Given the description of an element on the screen output the (x, y) to click on. 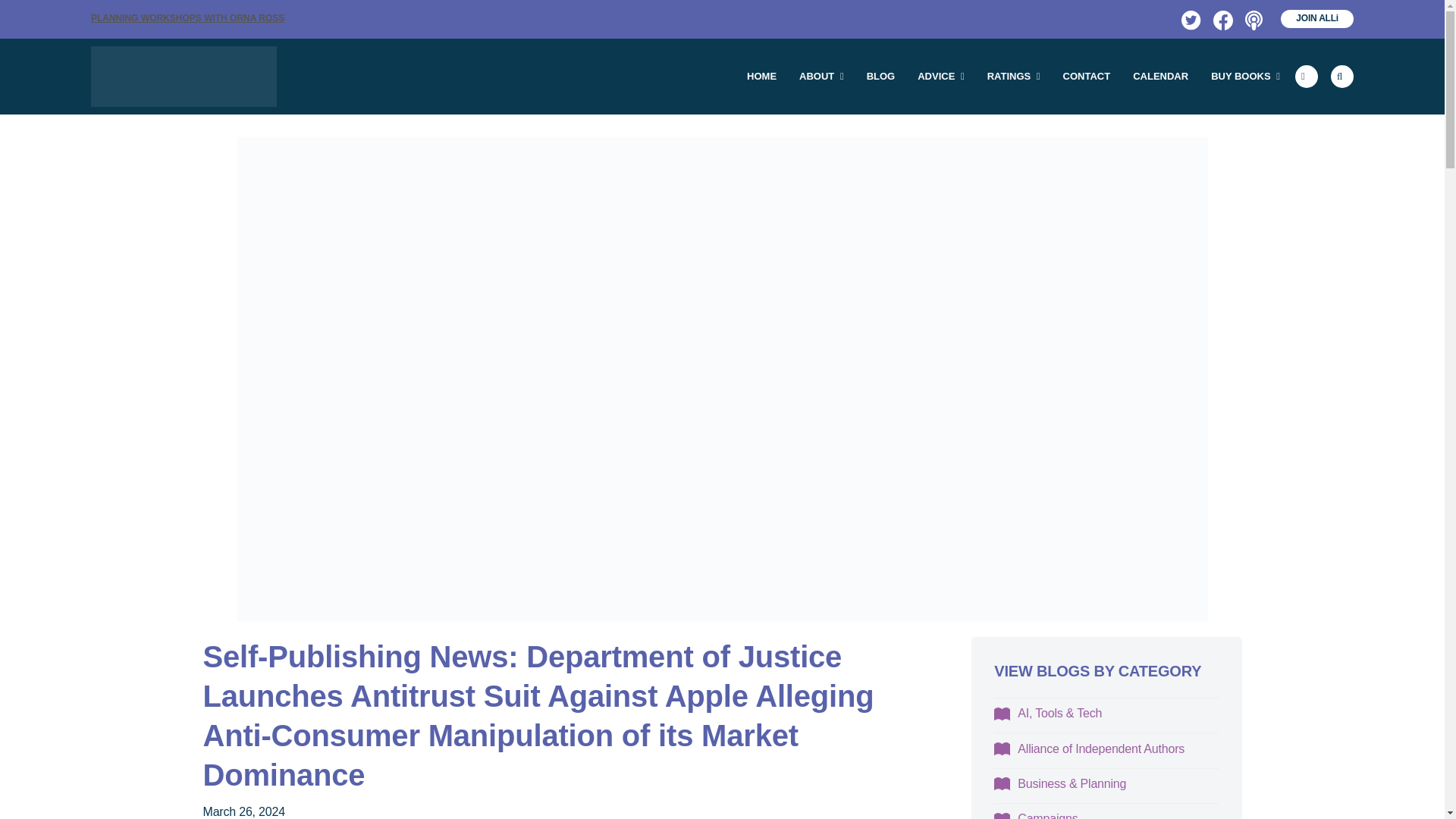
Facebook (1221, 18)
HOME (761, 76)
BLOG (881, 76)
BUY BOOKS (1245, 76)
Podcast (1253, 18)
Twitter (1189, 18)
Facebook (1221, 18)
CALENDAR (1160, 76)
PLANNING WORKSHOPS WITH ORNA ROSS (186, 18)
